Given the description of an element on the screen output the (x, y) to click on. 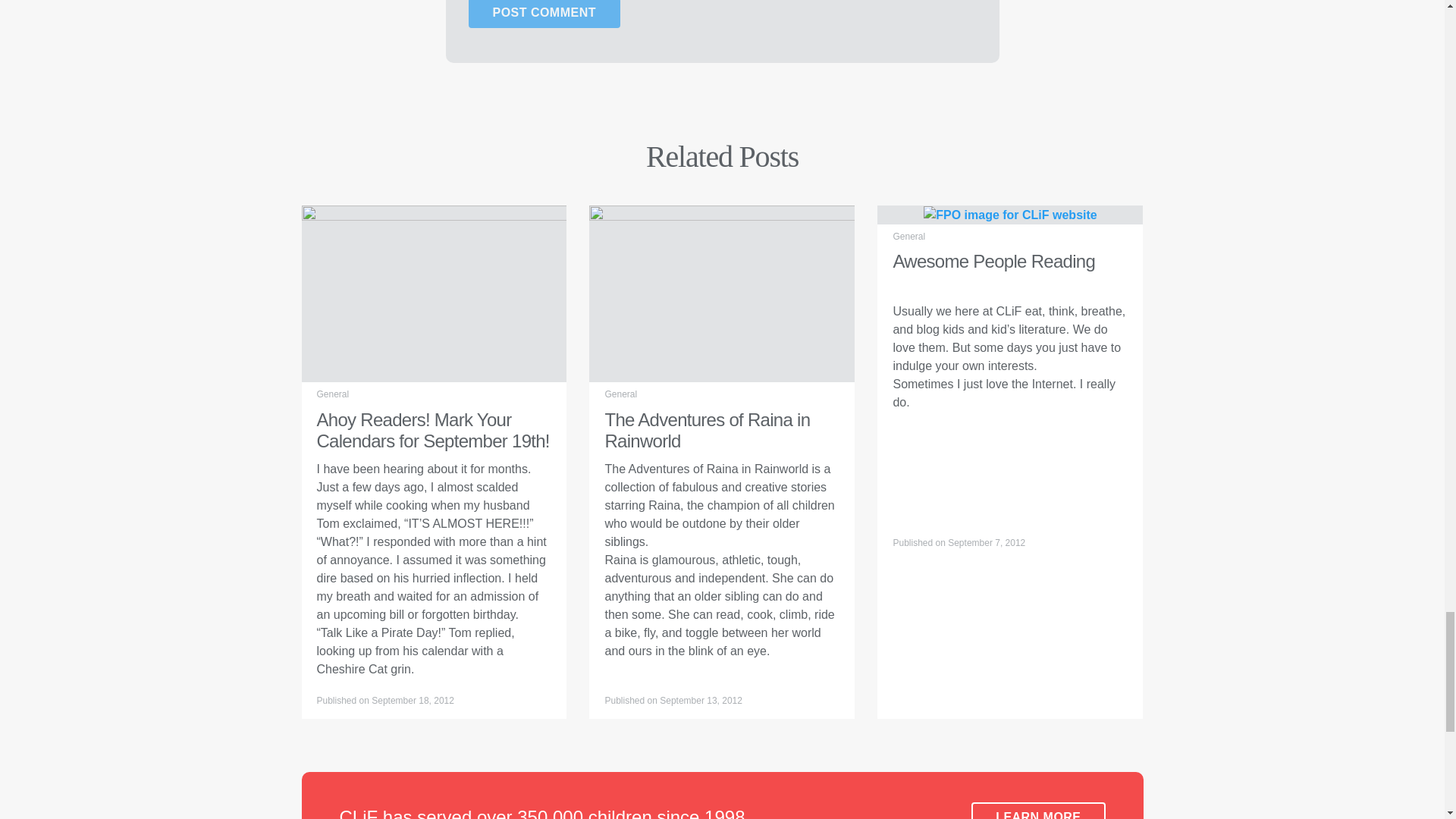
Ahoy Readers! Mark Your Calendars for September 19th! (434, 292)
The Adventures of Raina in Rainworld (721, 292)
Post Comment (544, 13)
Awesome People Reading (1009, 214)
